Given the description of an element on the screen output the (x, y) to click on. 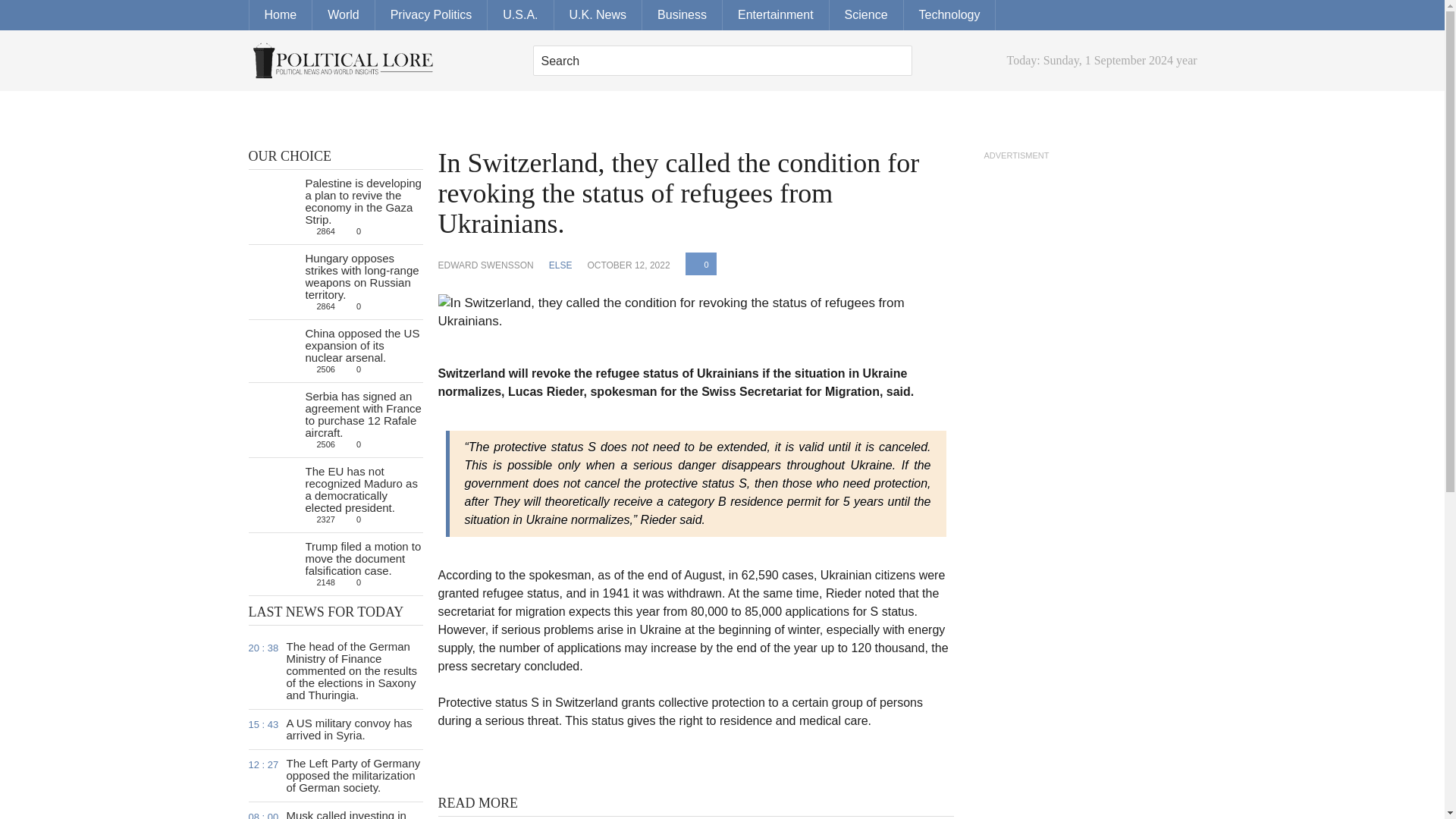
Privacy Politics (431, 15)
Search (721, 60)
Business (682, 15)
U.S.A. (520, 15)
Science (866, 15)
China opposed the US expansion of its nuclear arsenal. (361, 344)
U.K. News (597, 15)
